Given the description of an element on the screen output the (x, y) to click on. 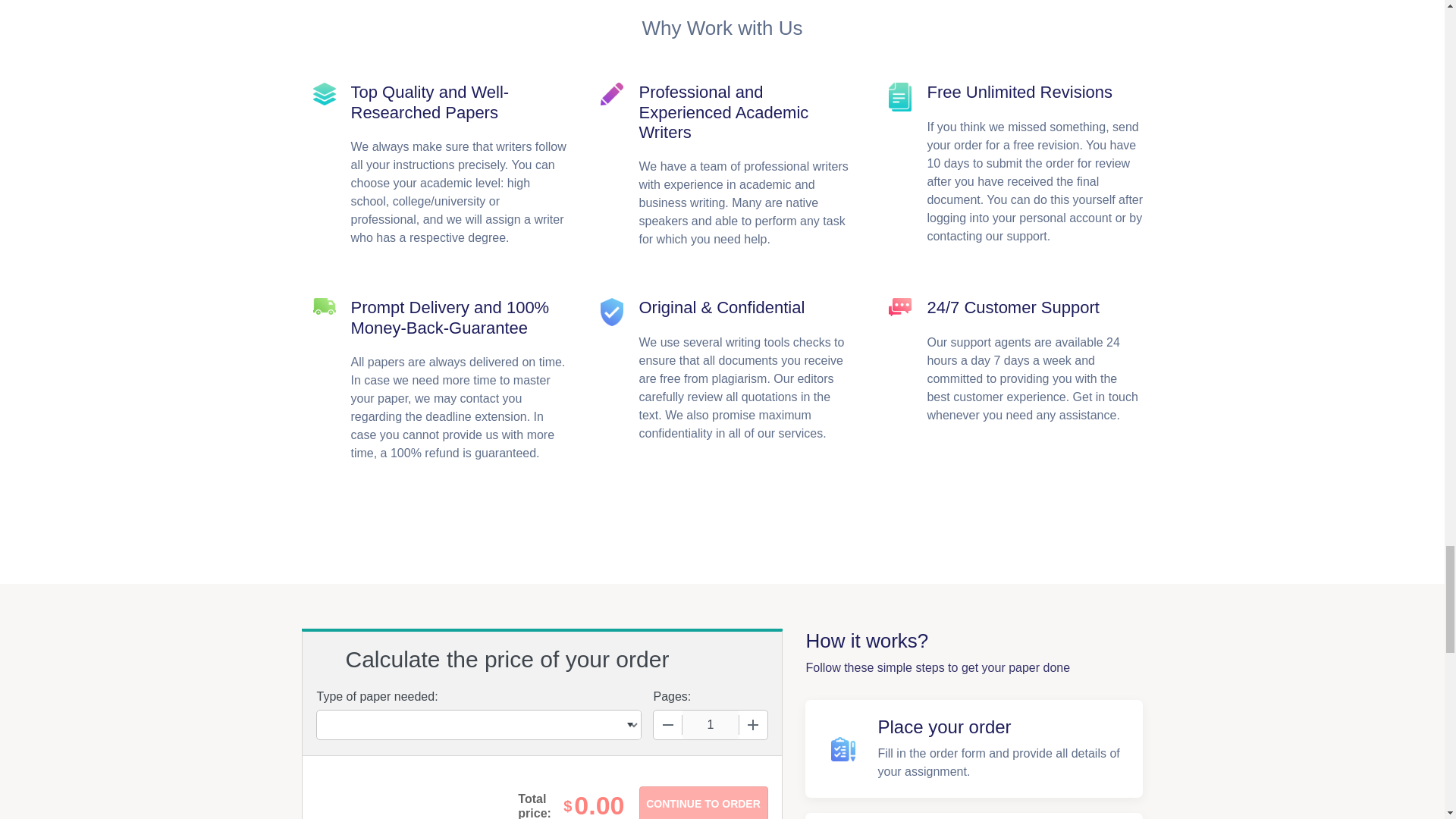
Decrease (667, 724)
1 (710, 724)
Increase (752, 724)
Continue to order (703, 802)
Continue to order (703, 802)
Continue to Order (703, 802)
